Given the description of an element on the screen output the (x, y) to click on. 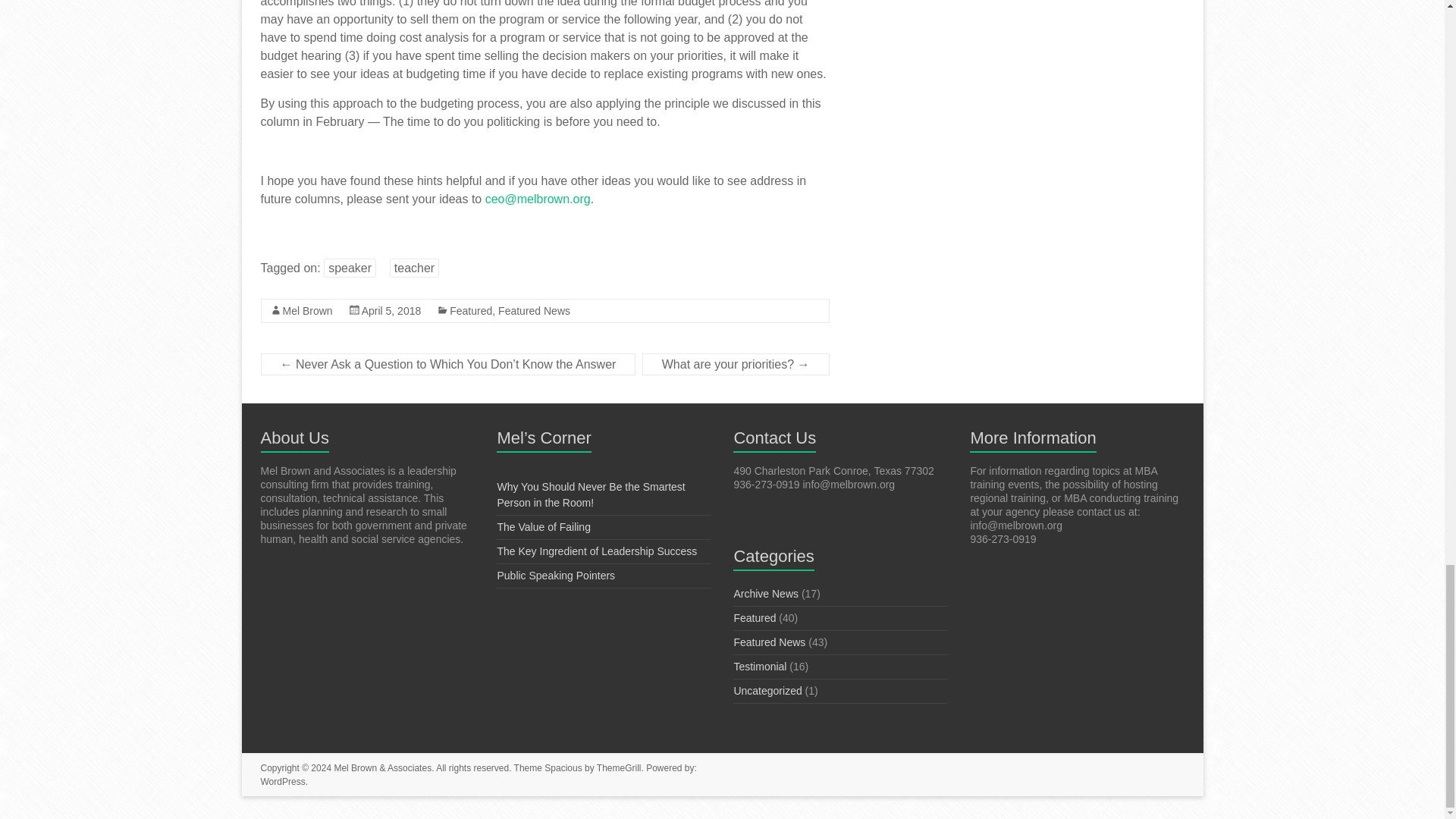
Featured News (533, 310)
Featured News (769, 642)
Why You Should Never Be the Smartest Person in the Room! (590, 494)
Spacious (562, 767)
WordPress (282, 781)
The Key Ingredient of Leadership Success (596, 551)
WordPress (282, 781)
Featured (470, 310)
Public Speaking Pointers (555, 575)
Testimonial (759, 666)
April 5, 2018 (391, 310)
Archive News (765, 593)
7:53 am (391, 310)
teacher (414, 267)
The Value of Failing (542, 526)
